Given the description of an element on the screen output the (x, y) to click on. 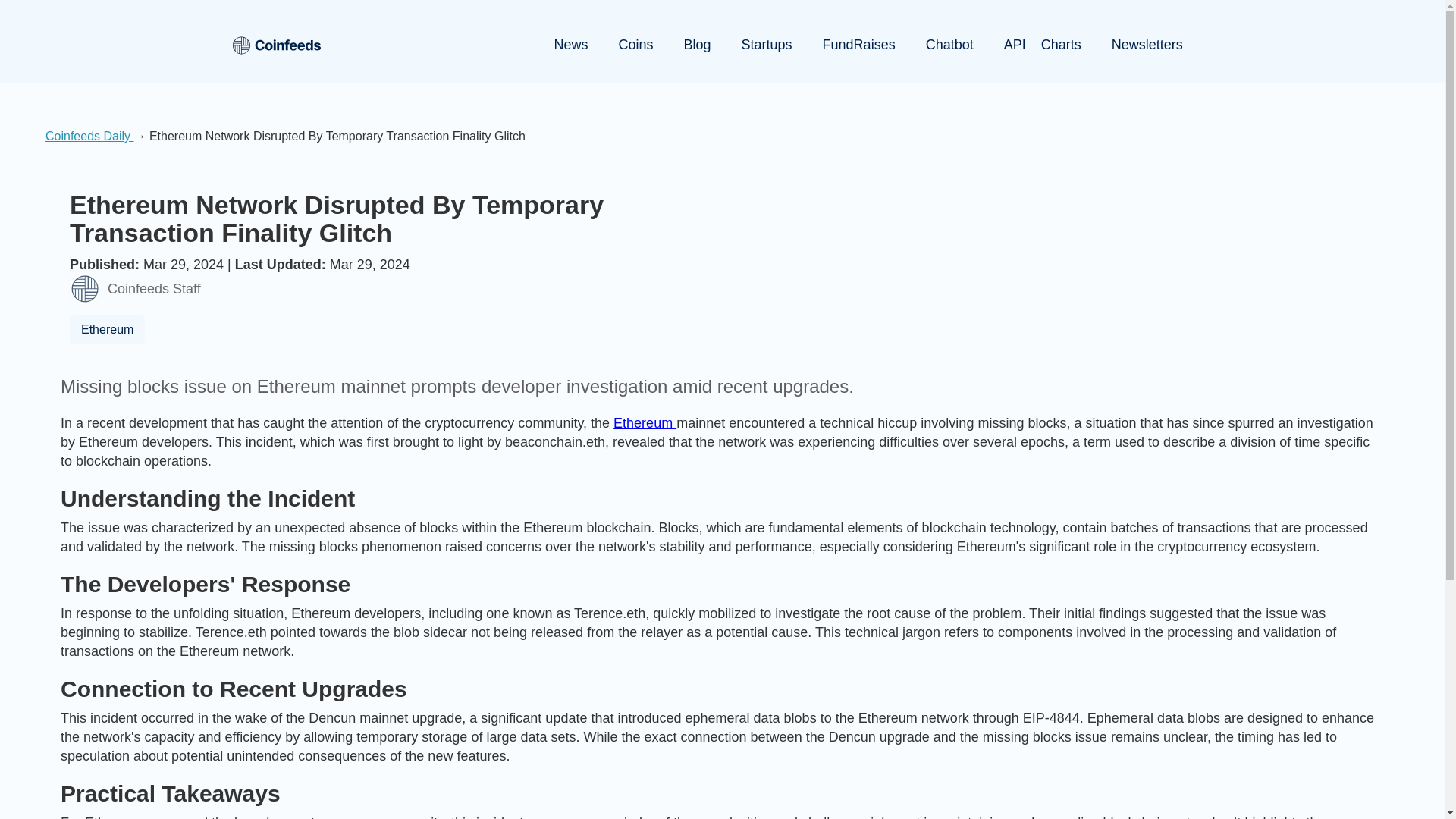
Ethereum (644, 422)
API (1014, 44)
Coinfeeds Staff (134, 288)
Chatbot (949, 44)
Coinfeeds Daily (89, 135)
News (570, 44)
FundRaises (859, 44)
Ethereum (106, 329)
Coins (635, 44)
Blog (697, 44)
Startups (767, 44)
